Given the description of an element on the screen output the (x, y) to click on. 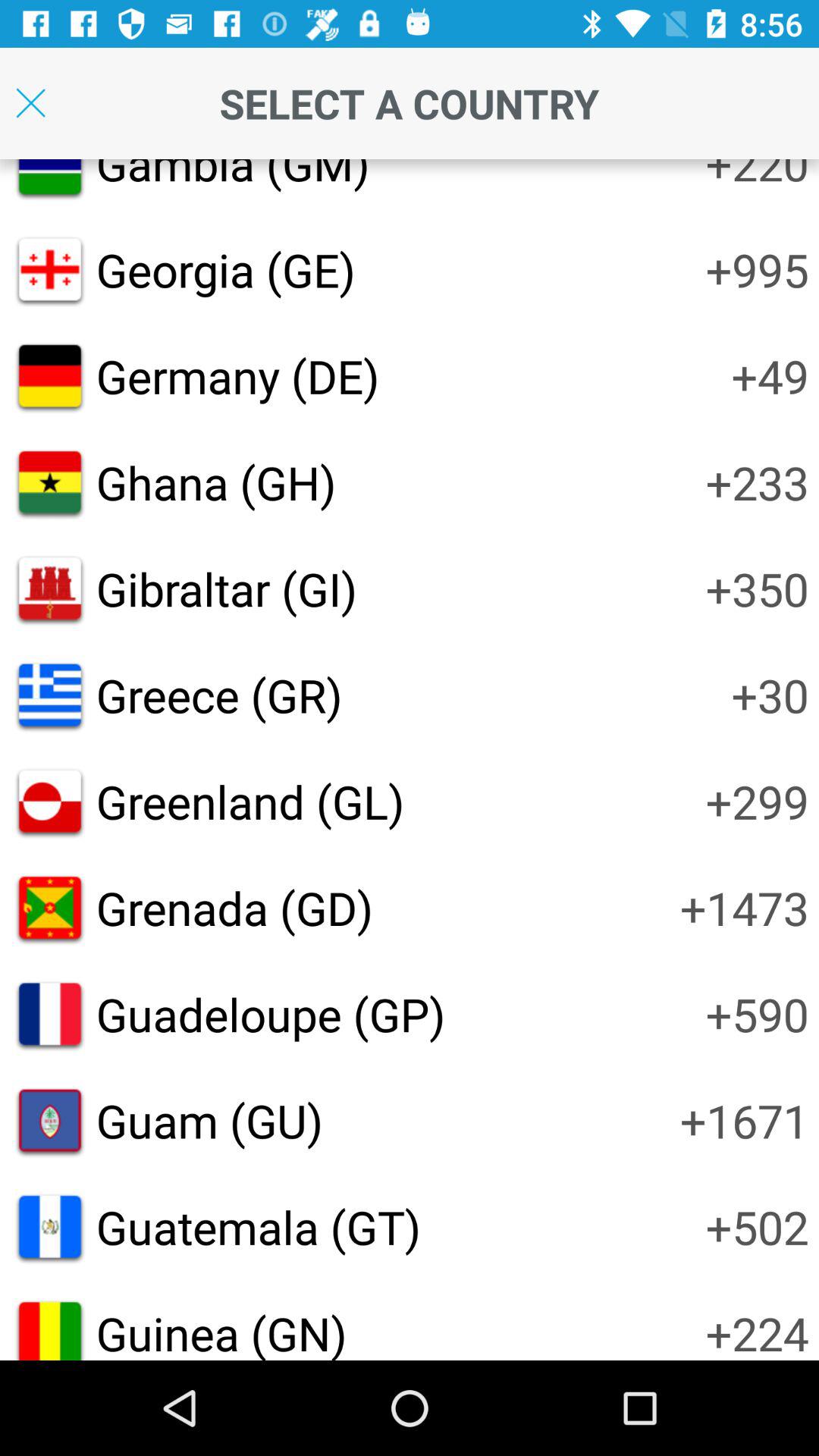
click icon to the right of the guam (gu) item (744, 1120)
